Given the description of an element on the screen output the (x, y) to click on. 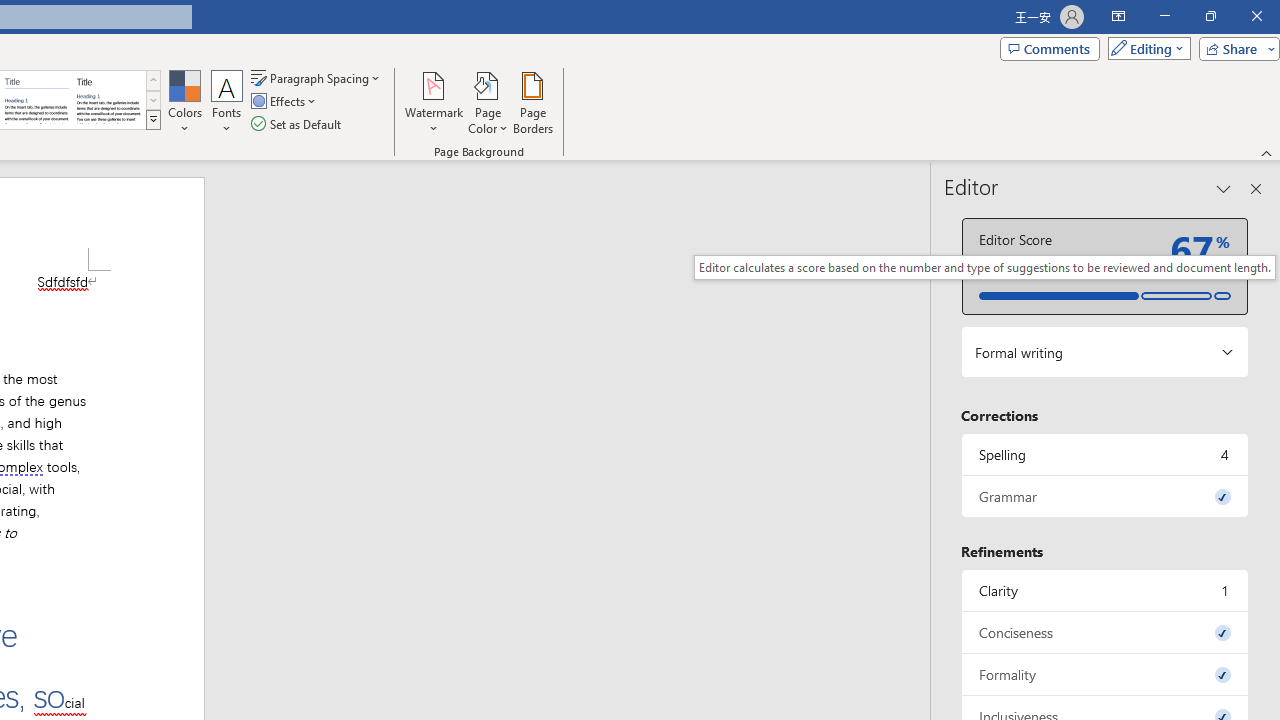
Page Borders... (532, 102)
Clarity, 1 issue. Press space or enter to review items. (1105, 590)
Style Set (153, 120)
Word 2010 (36, 100)
Conciseness, 0 issues. Press space or enter to review items. (1105, 632)
Editor Score 67% (1105, 266)
Formality, 0 issues. Press space or enter to review items. (1105, 673)
Word 2013 (108, 100)
